Given the description of an element on the screen output the (x, y) to click on. 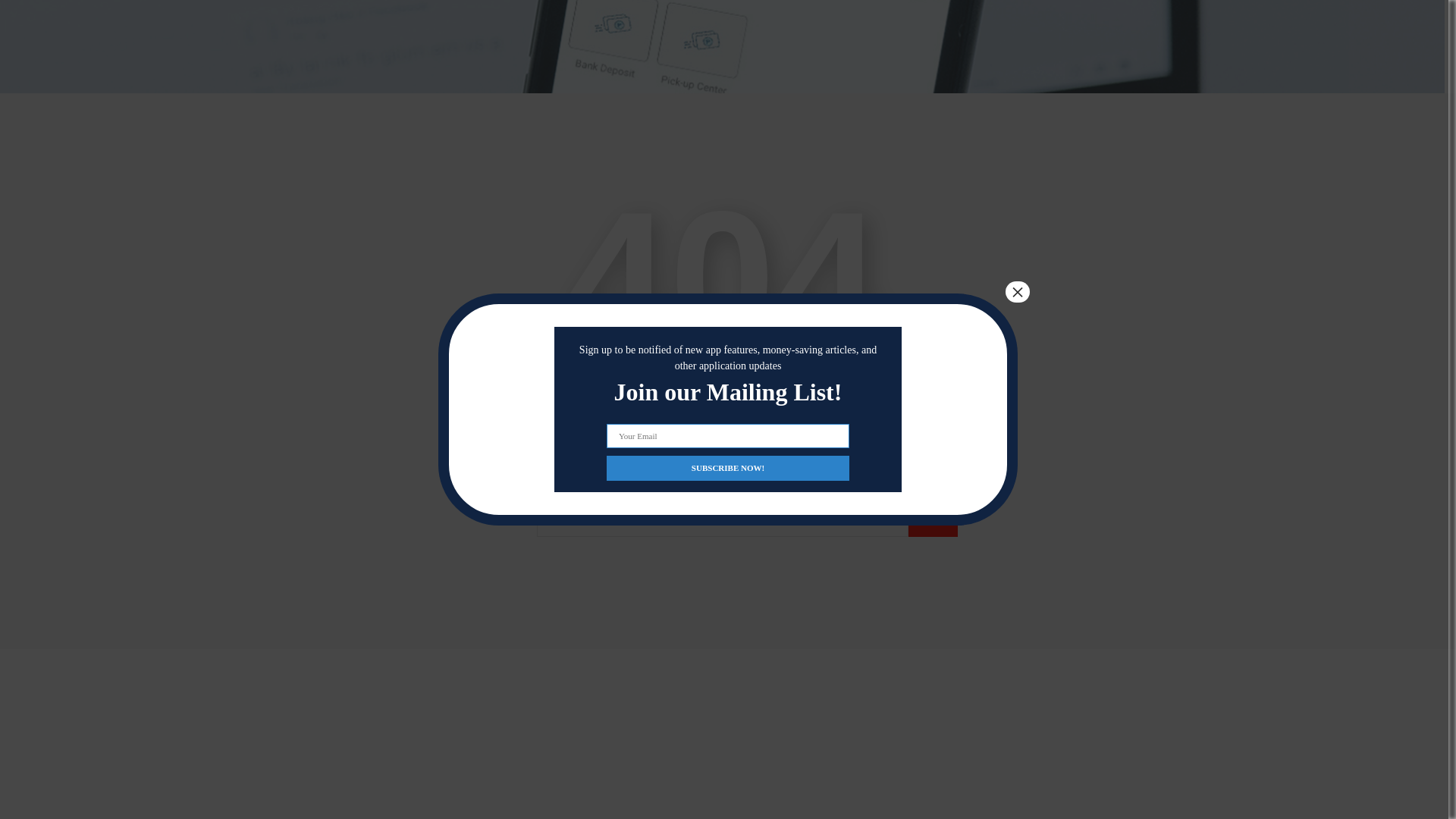
Search (933, 521)
SUBSCRIBE NOW! (727, 285)
Search (933, 521)
SUBSCRIBE NOW! (727, 285)
VISIT HOMEPAGE (722, 422)
Search (933, 521)
